Given the description of an element on the screen output the (x, y) to click on. 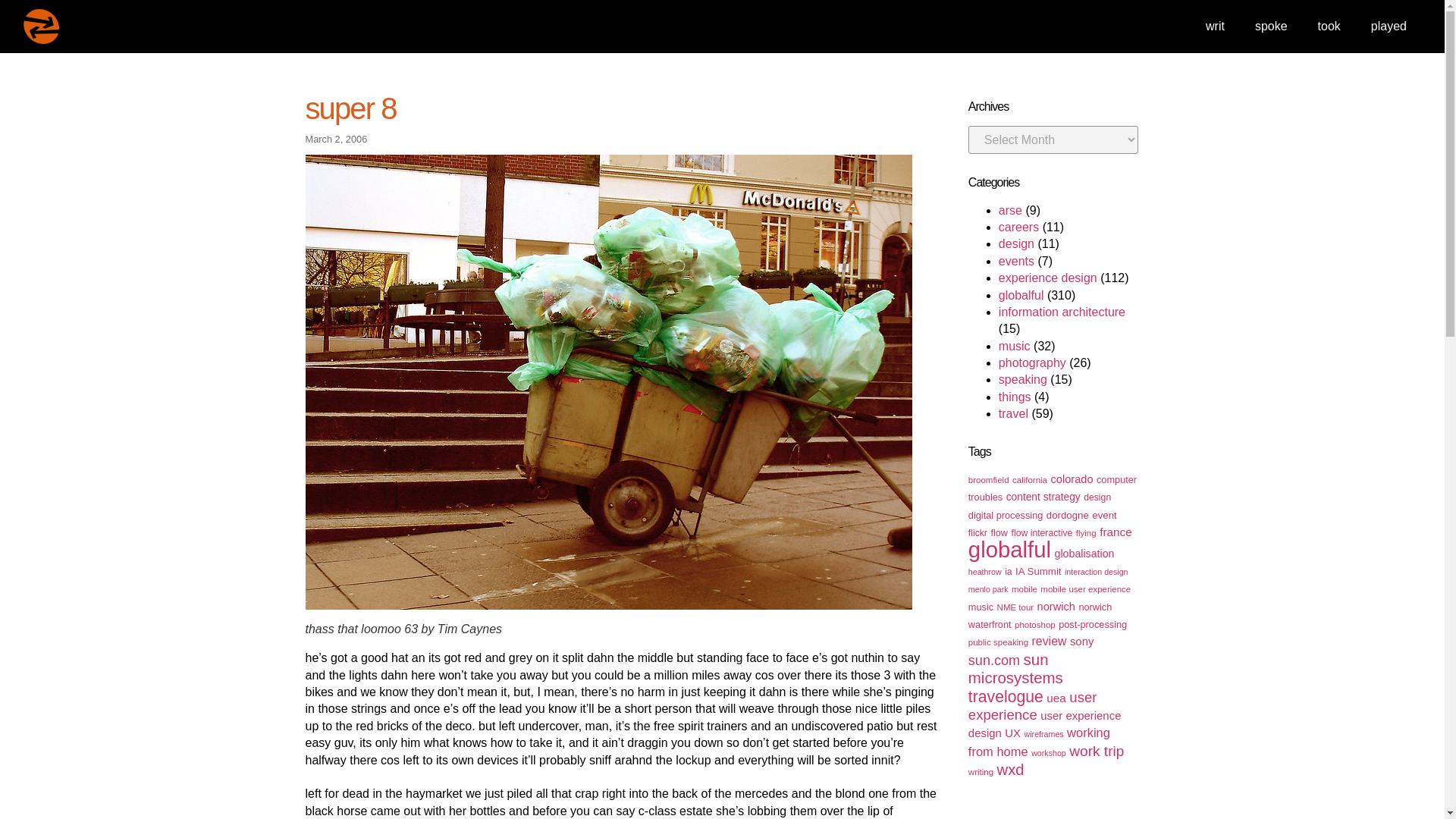
writ (1215, 26)
events (1015, 260)
travel (1012, 413)
things (1014, 396)
broomfield (988, 479)
arse (1010, 210)
computer troubles (1052, 488)
March 2, 2006 (335, 138)
design (1015, 243)
design (1096, 497)
event (1104, 514)
experience design (1047, 277)
digital processing (1005, 514)
spoke (1271, 26)
played (1388, 26)
